Given the description of an element on the screen output the (x, y) to click on. 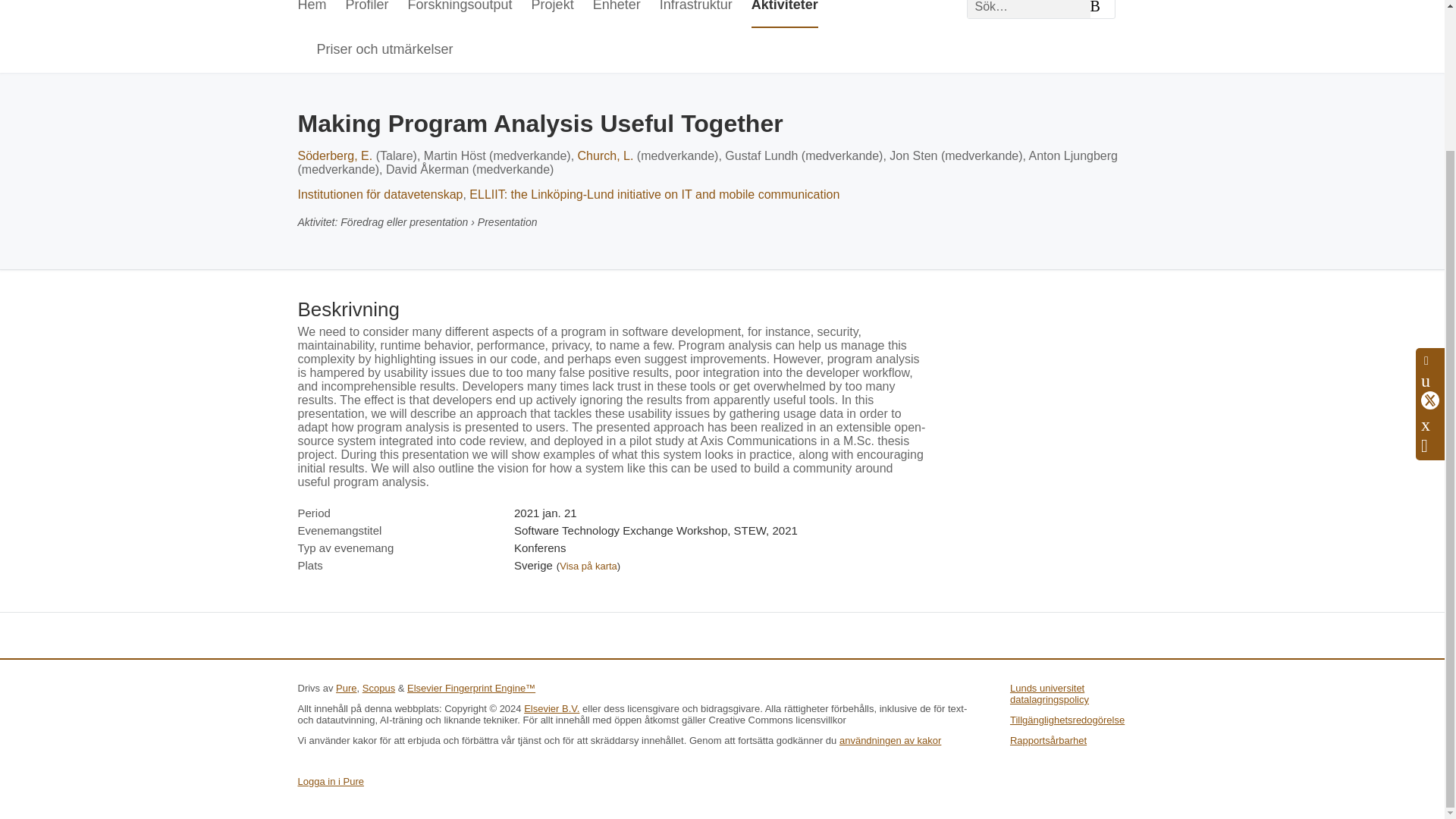
Hem (311, 13)
X (1430, 226)
Pure (346, 687)
Church, L. (605, 155)
Lunds universitet datalagringspolicy (1049, 693)
Profiler (367, 13)
Scopus (378, 687)
Forskningsoutput (459, 13)
Logga in i Pure (329, 781)
Elsevier B.V. (551, 708)
